Given the description of an element on the screen output the (x, y) to click on. 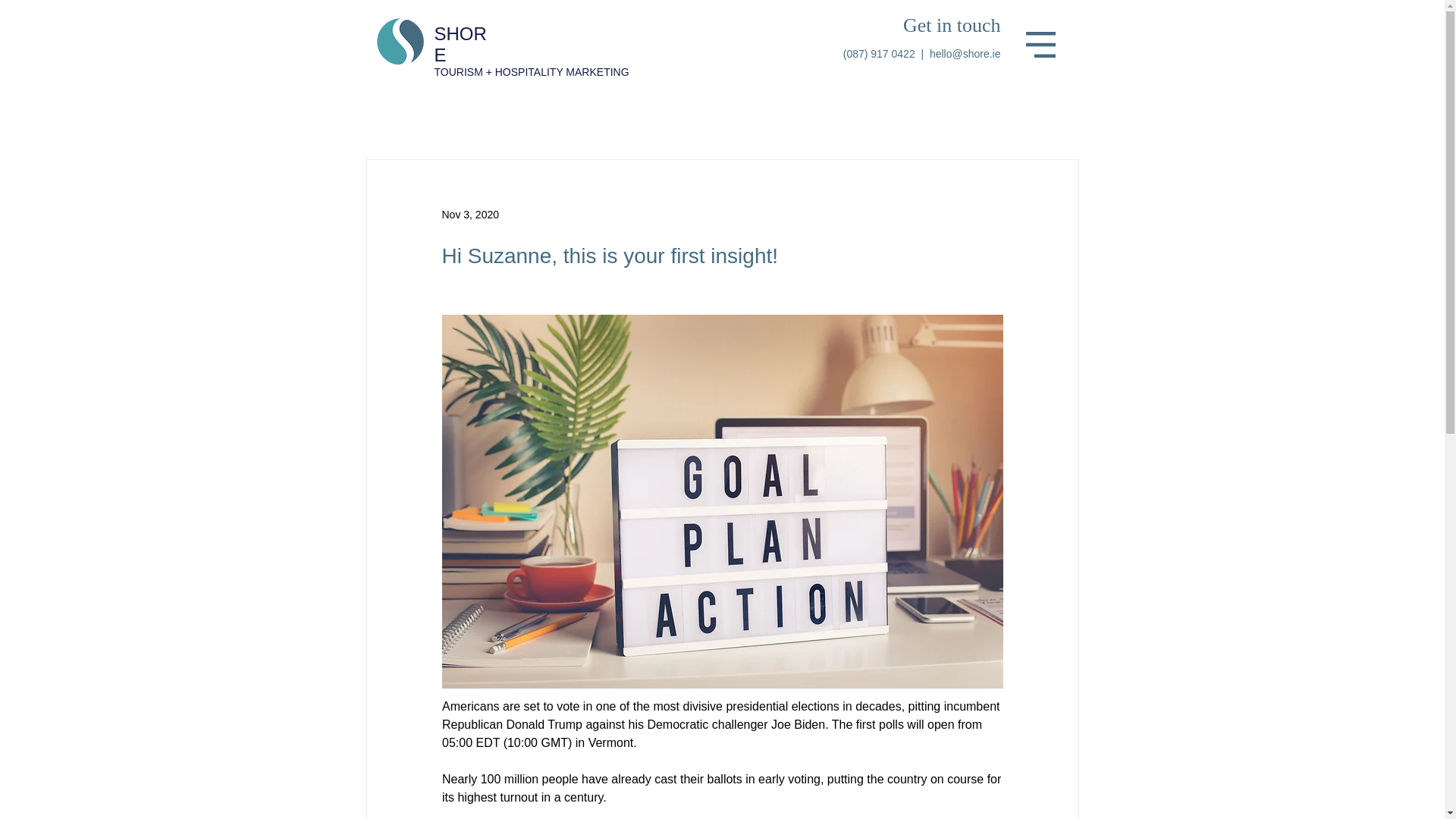
SHORE (459, 44)
Nov 3, 2020 (470, 214)
